Given the description of an element on the screen output the (x, y) to click on. 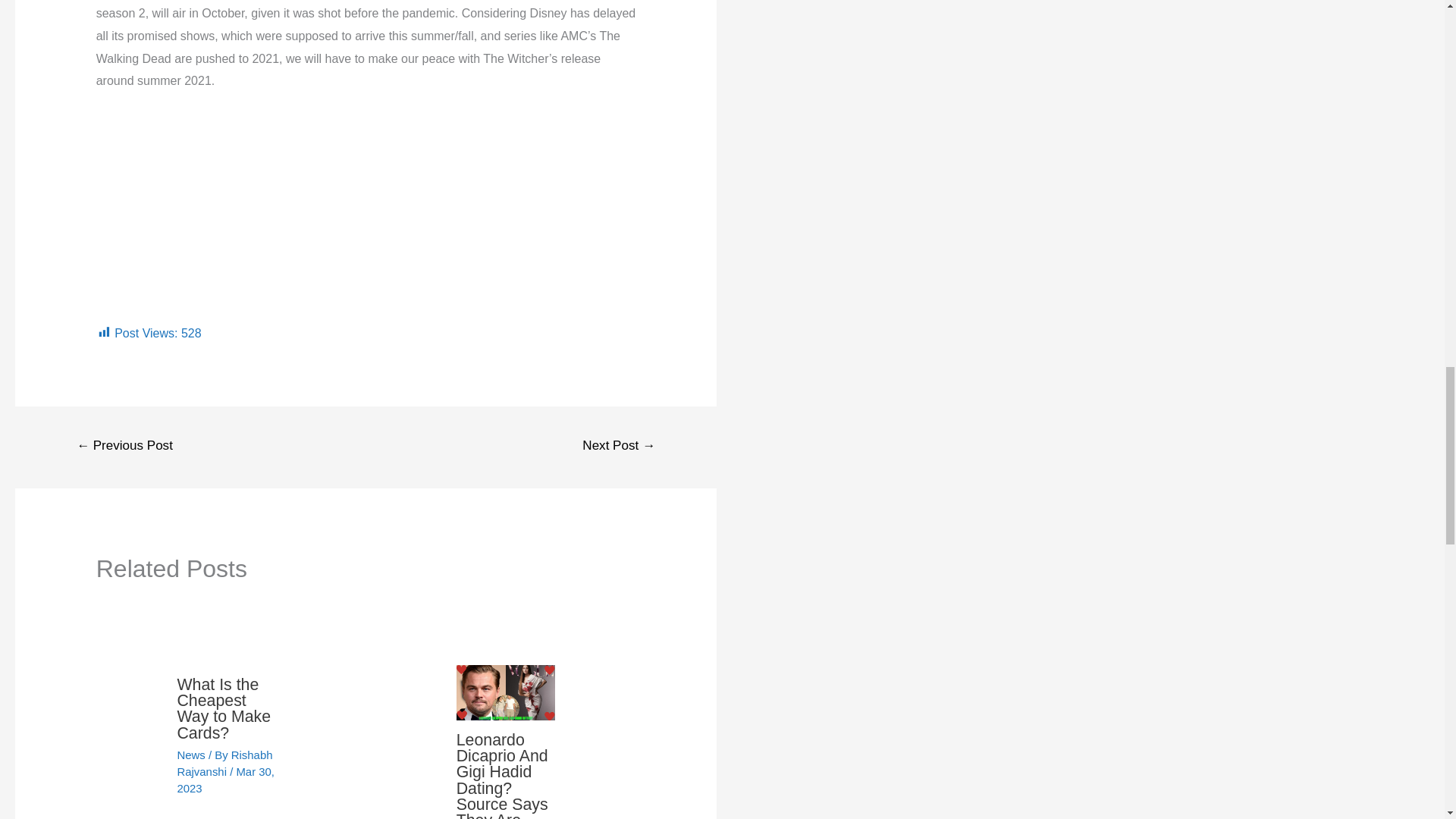
View all posts by Rishabh Rajvanshi (224, 763)
